Given the description of an element on the screen output the (x, y) to click on. 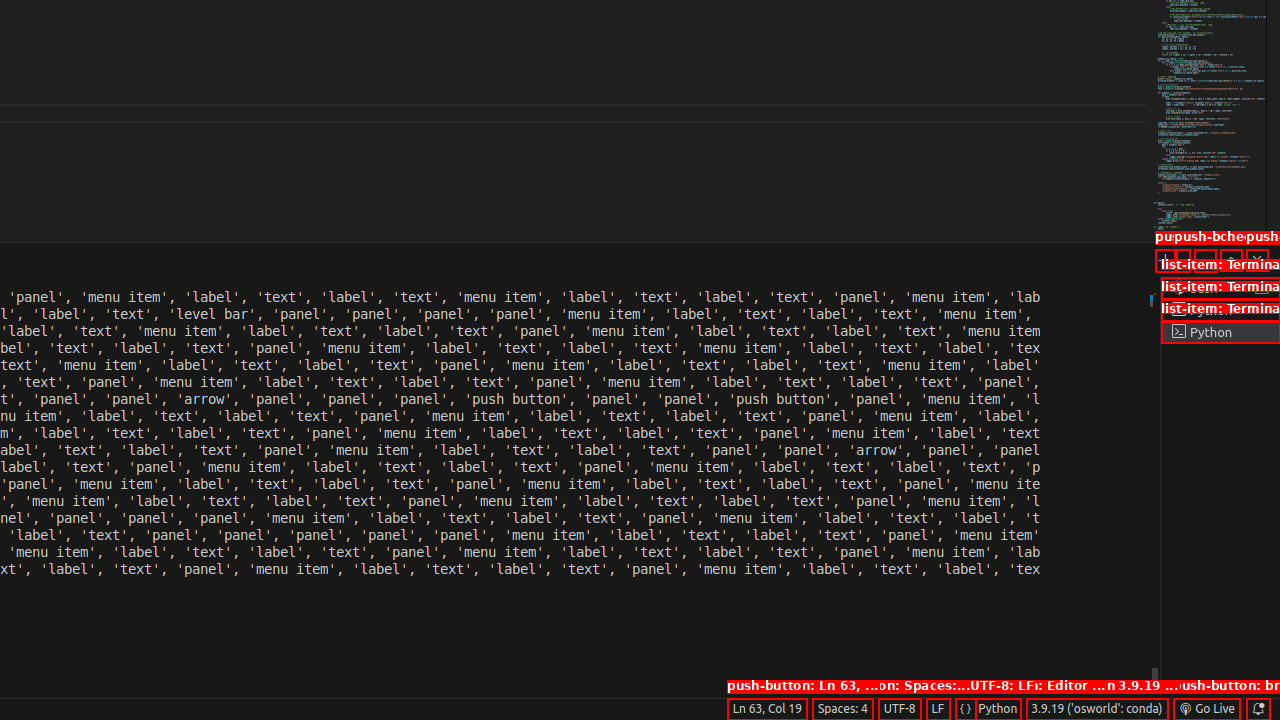
broadcast Go Live, Click to run live server Element type: push-button (1206, 709)
Terminal 1 bash Element type: list-item (1220, 288)
Hide Panel Element type: push-button (1257, 260)
Views and More Actions... Element type: push-button (1205, 260)
New Terminal (Ctrl+Shift+`) [Alt] Split Terminal (Ctrl+Shift+5) Element type: push-button (1166, 260)
